Given the description of an element on the screen output the (x, y) to click on. 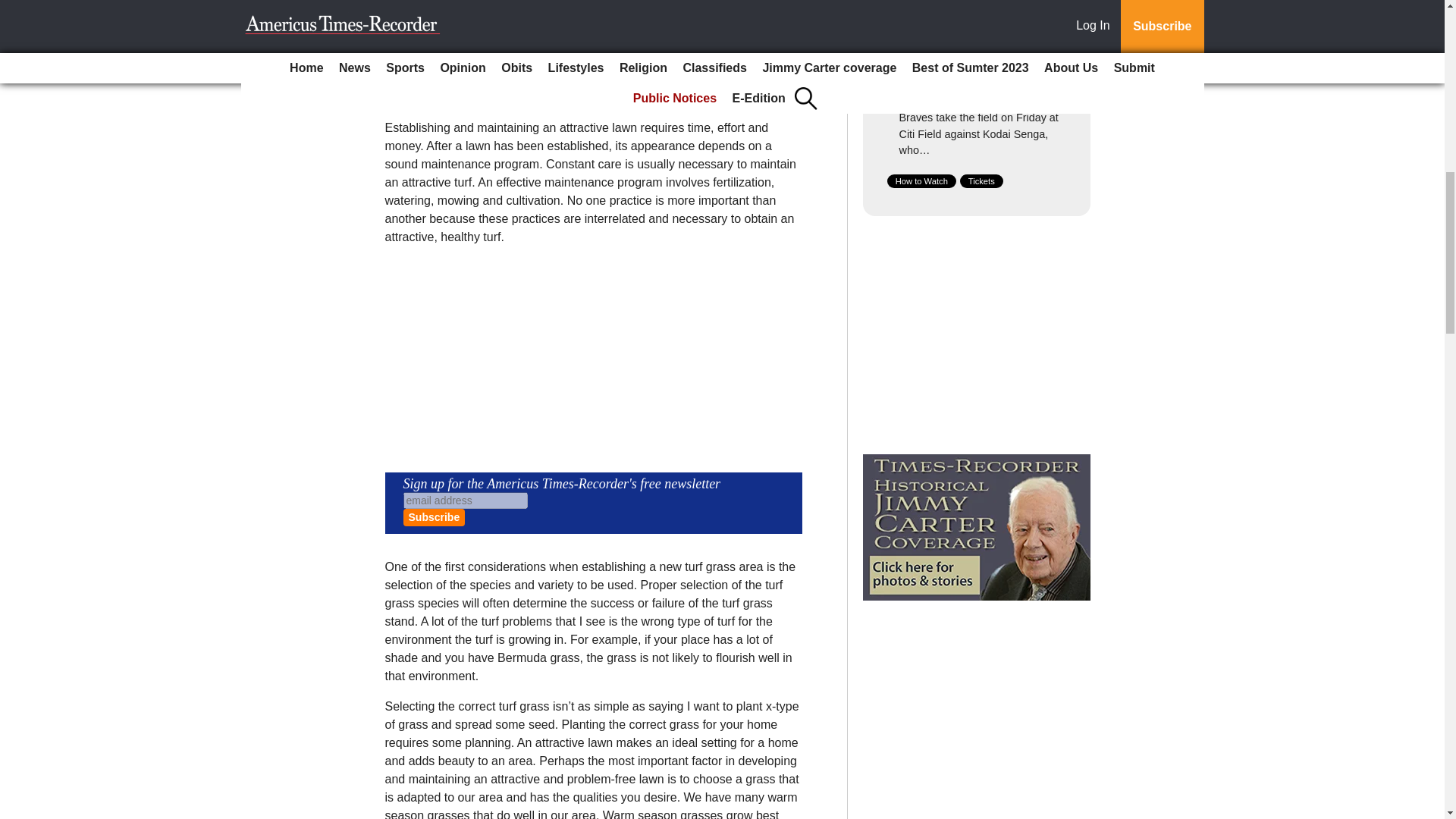
How to Watch (921, 181)
Subscribe (434, 517)
Tickets (981, 181)
Subscribe (434, 517)
